Given the description of an element on the screen output the (x, y) to click on. 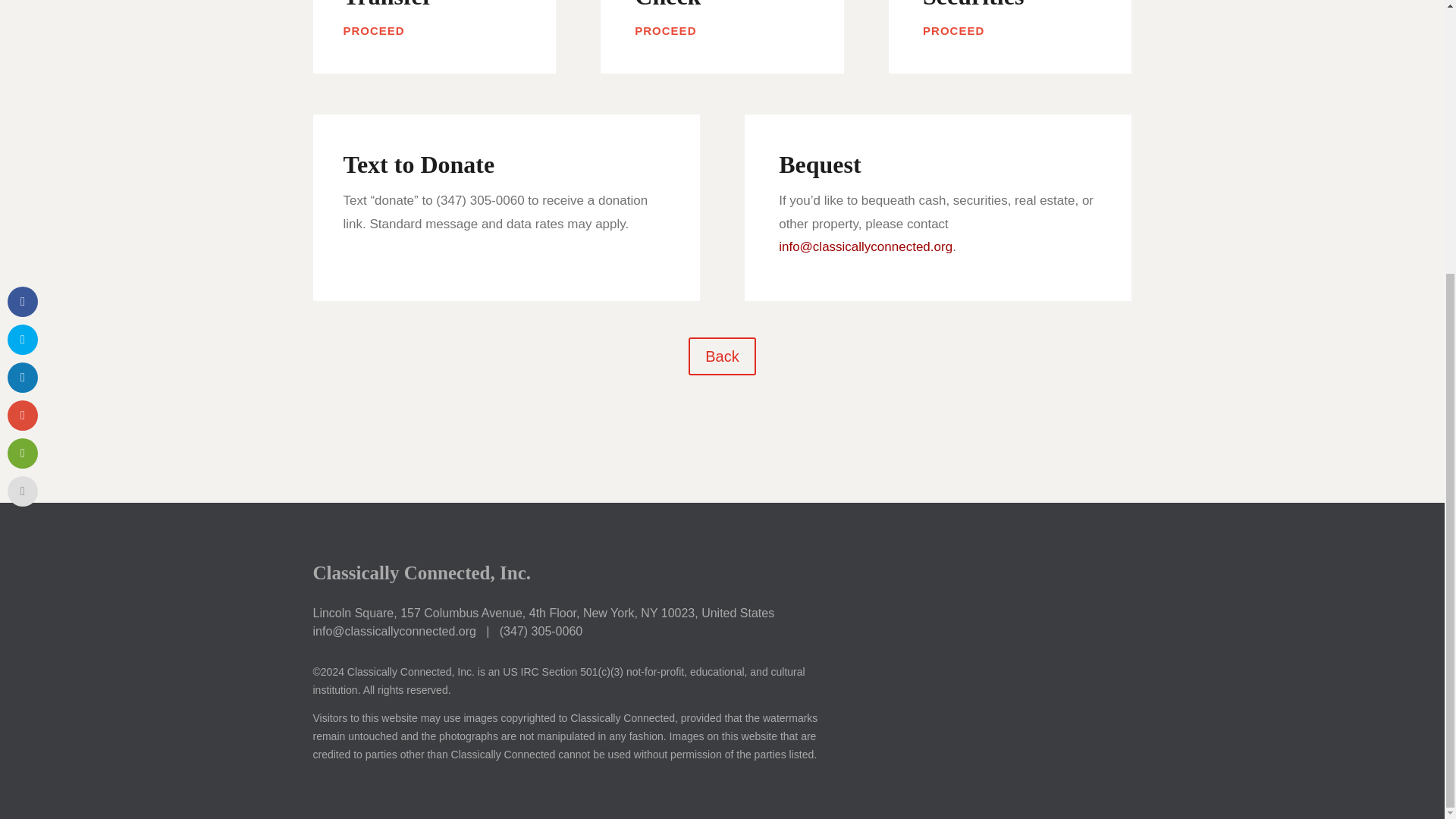
PROCEED (664, 30)
PROCEED (373, 30)
PROCEED (953, 30)
Back (721, 356)
